Given the description of an element on the screen output the (x, y) to click on. 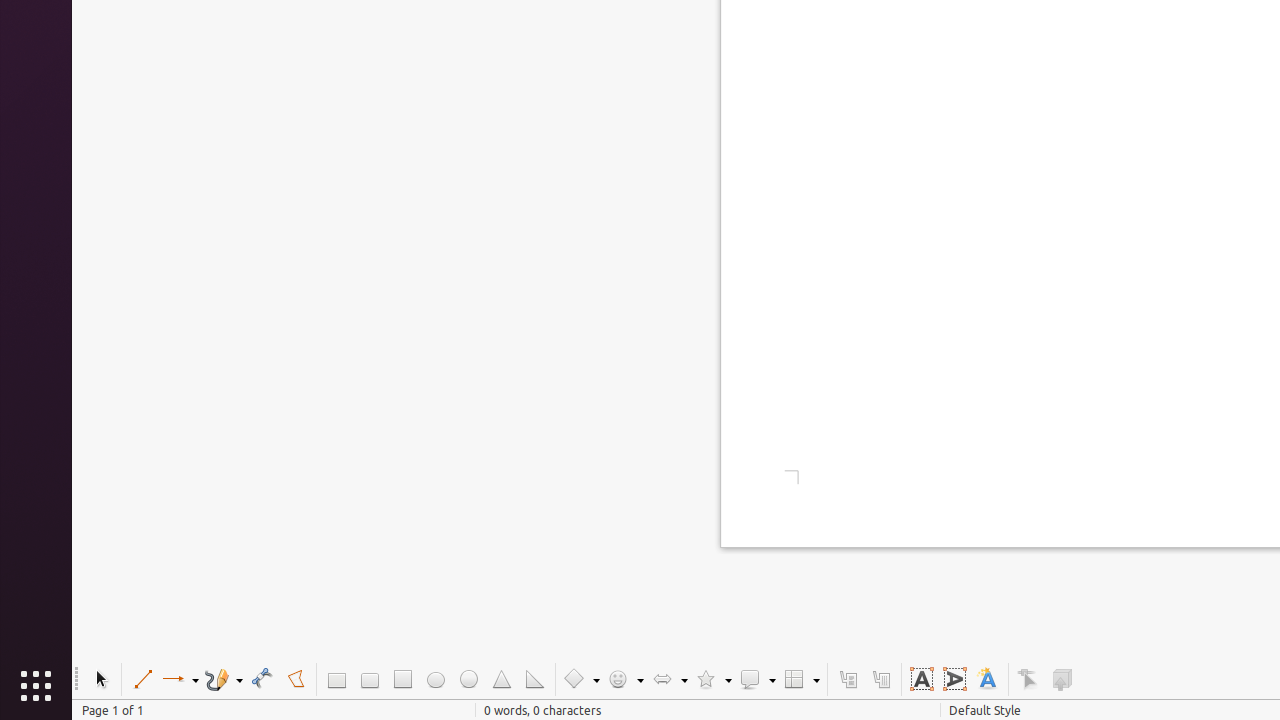
Symbol Shapes Element type: push-button (625, 679)
Text Box Element type: push-button (921, 679)
Select Element type: push-button (100, 679)
Polygon Element type: push-button (295, 679)
Edit Points Element type: push-button (1028, 679)
